Given the description of an element on the screen output the (x, y) to click on. 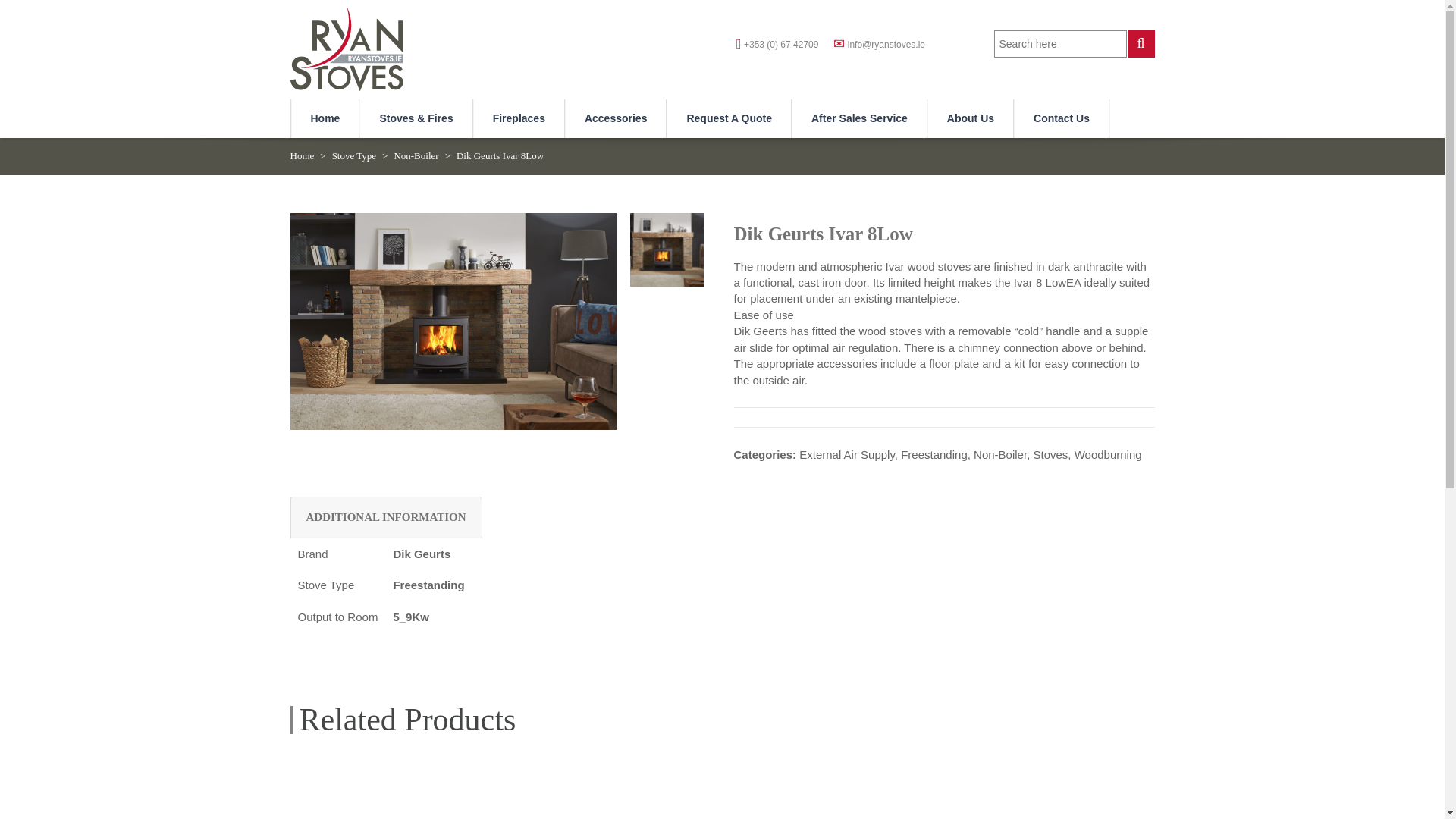
Ryan Stoves - Top quality stoves at affordable prices (345, 46)
Fireplaces (518, 118)
Search (1140, 43)
After Sales Service (859, 118)
Home (325, 118)
Accessories (615, 118)
Request A Quote (728, 118)
